Given the description of an element on the screen output the (x, y) to click on. 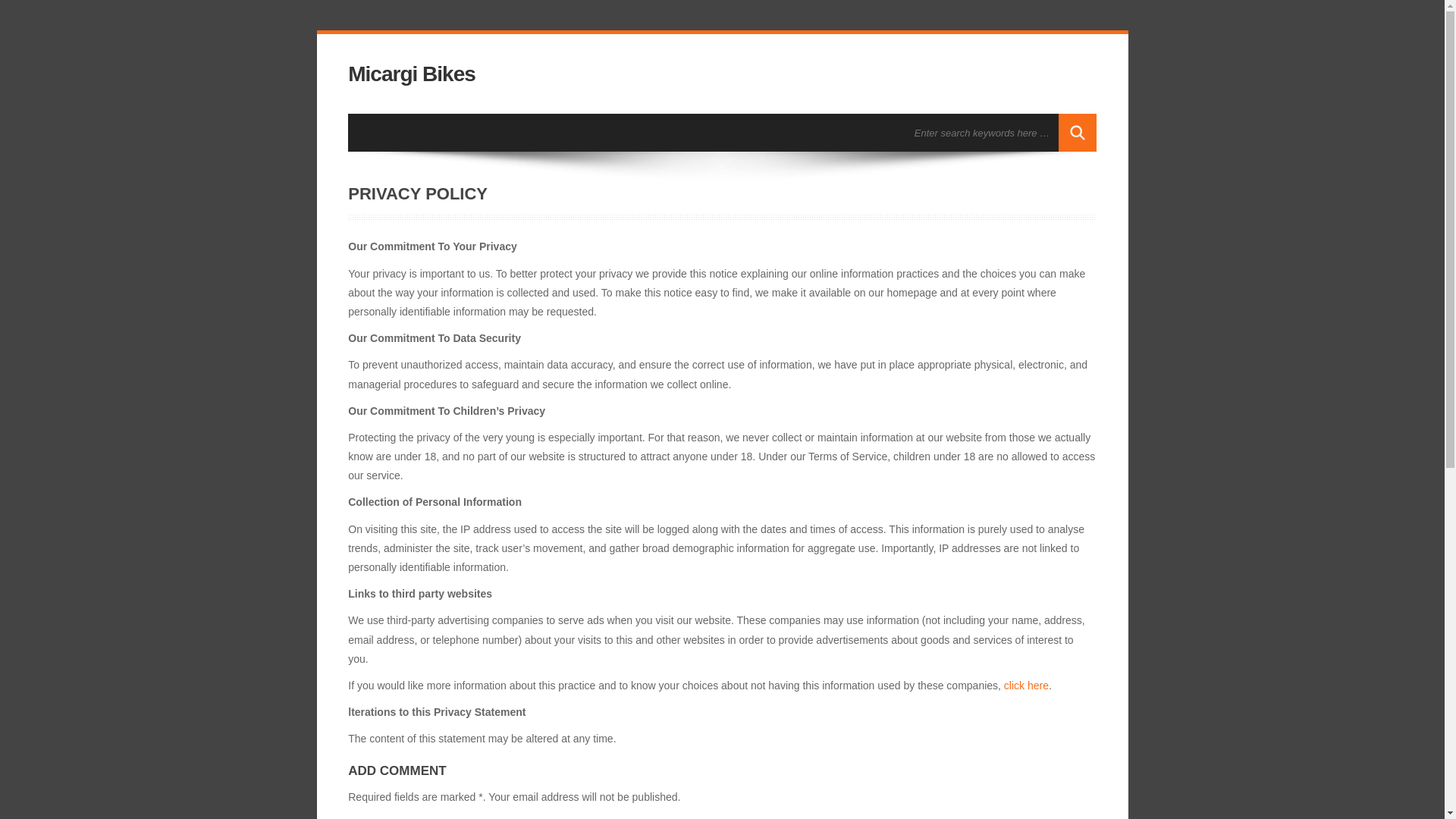
Micargi Bikes (411, 73)
Micargi Bikes (411, 73)
click here (1026, 685)
Search for: (982, 132)
